Given the description of an element on the screen output the (x, y) to click on. 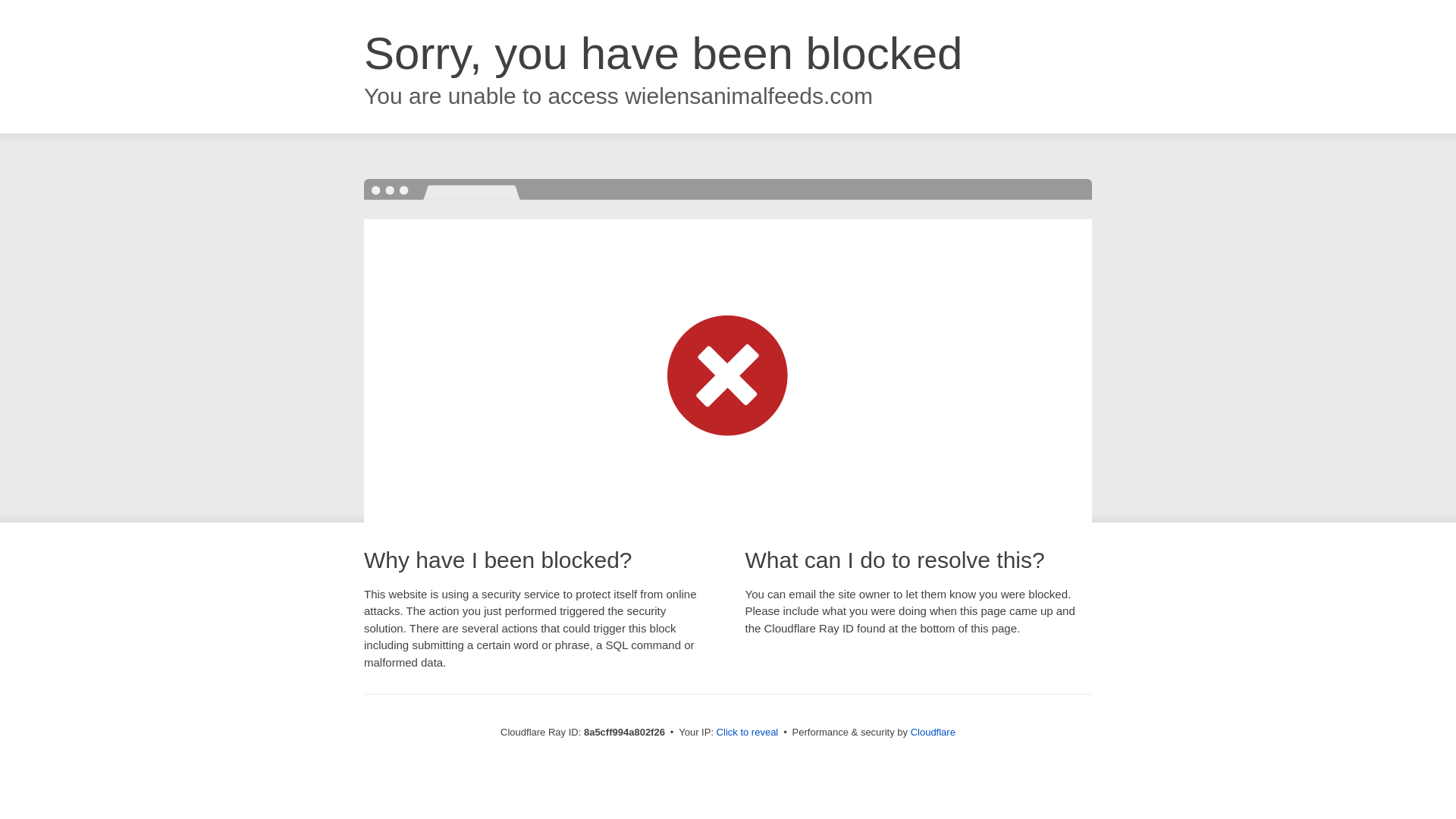
Cloudflare (933, 731)
Click to reveal (747, 732)
